Given the description of an element on the screen output the (x, y) to click on. 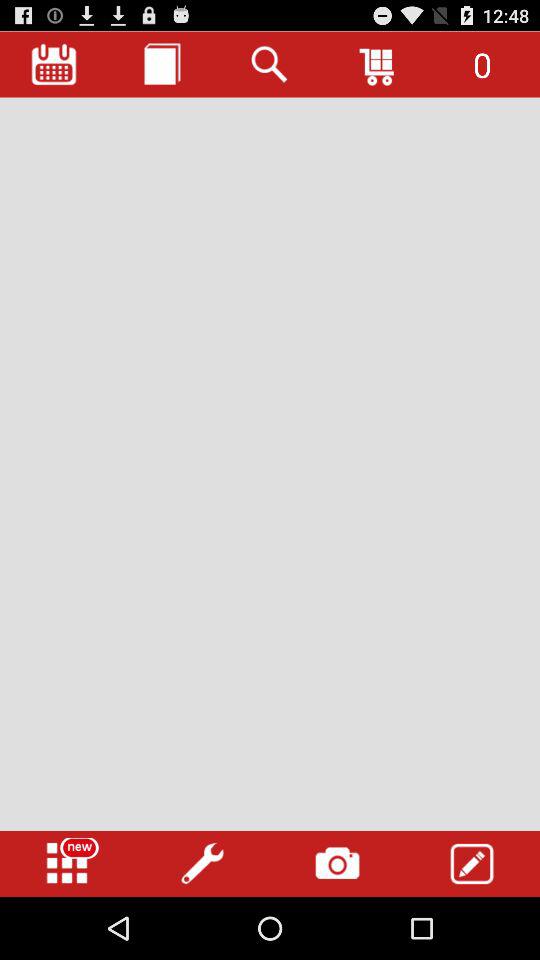
click to blank page (270, 464)
